Given the description of an element on the screen output the (x, y) to click on. 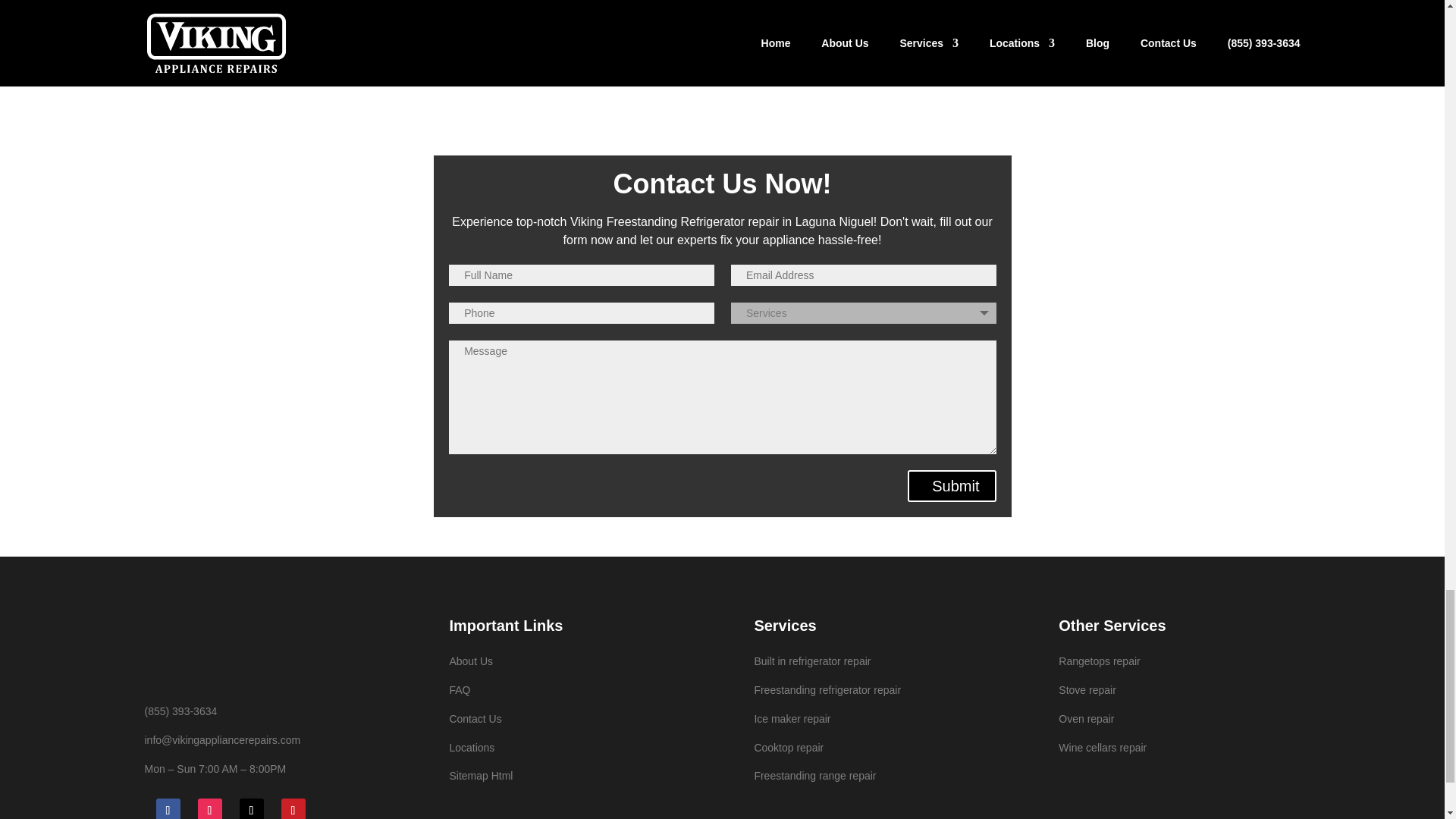
Follow on Instagram (208, 808)
Contact Us (474, 718)
About Us (470, 661)
Locations (471, 747)
Follow on Facebook (167, 808)
Follow on X (251, 808)
FAQ (459, 689)
Sitemap Html (480, 775)
Submit (951, 486)
Follow on Pinterest (292, 808)
